Given the description of an element on the screen output the (x, y) to click on. 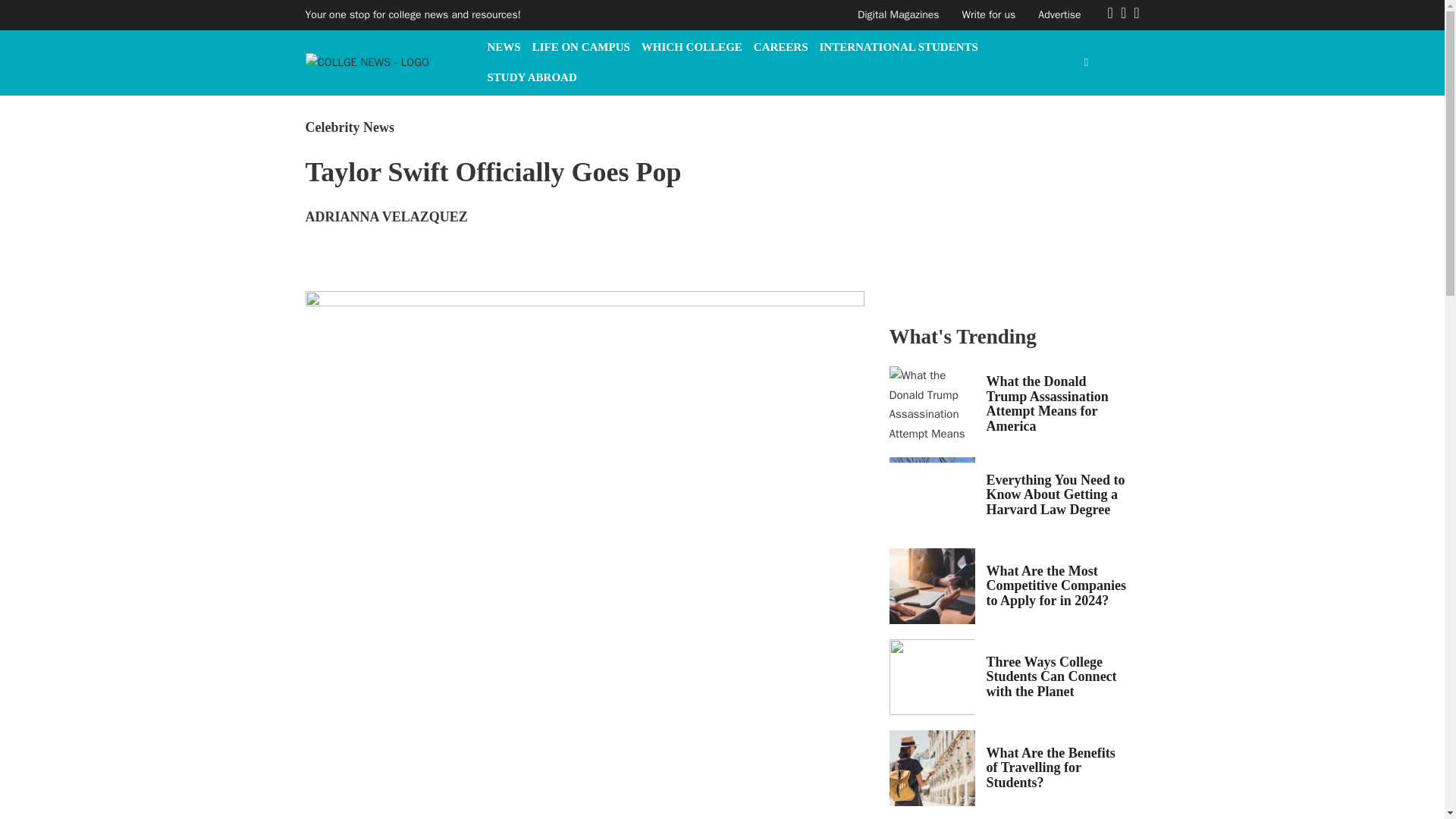
Digital Magazines (898, 14)
Advertise (1059, 14)
Write for us (989, 14)
Advertisement (1002, 212)
NEWS (502, 47)
